Given the description of an element on the screen output the (x, y) to click on. 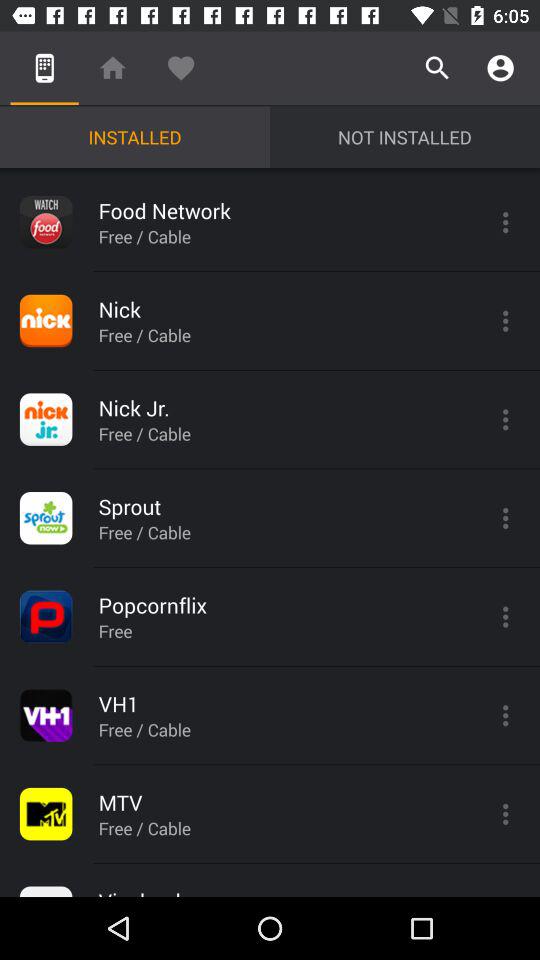
launch the item above the installed icon (112, 68)
